Given the description of an element on the screen output the (x, y) to click on. 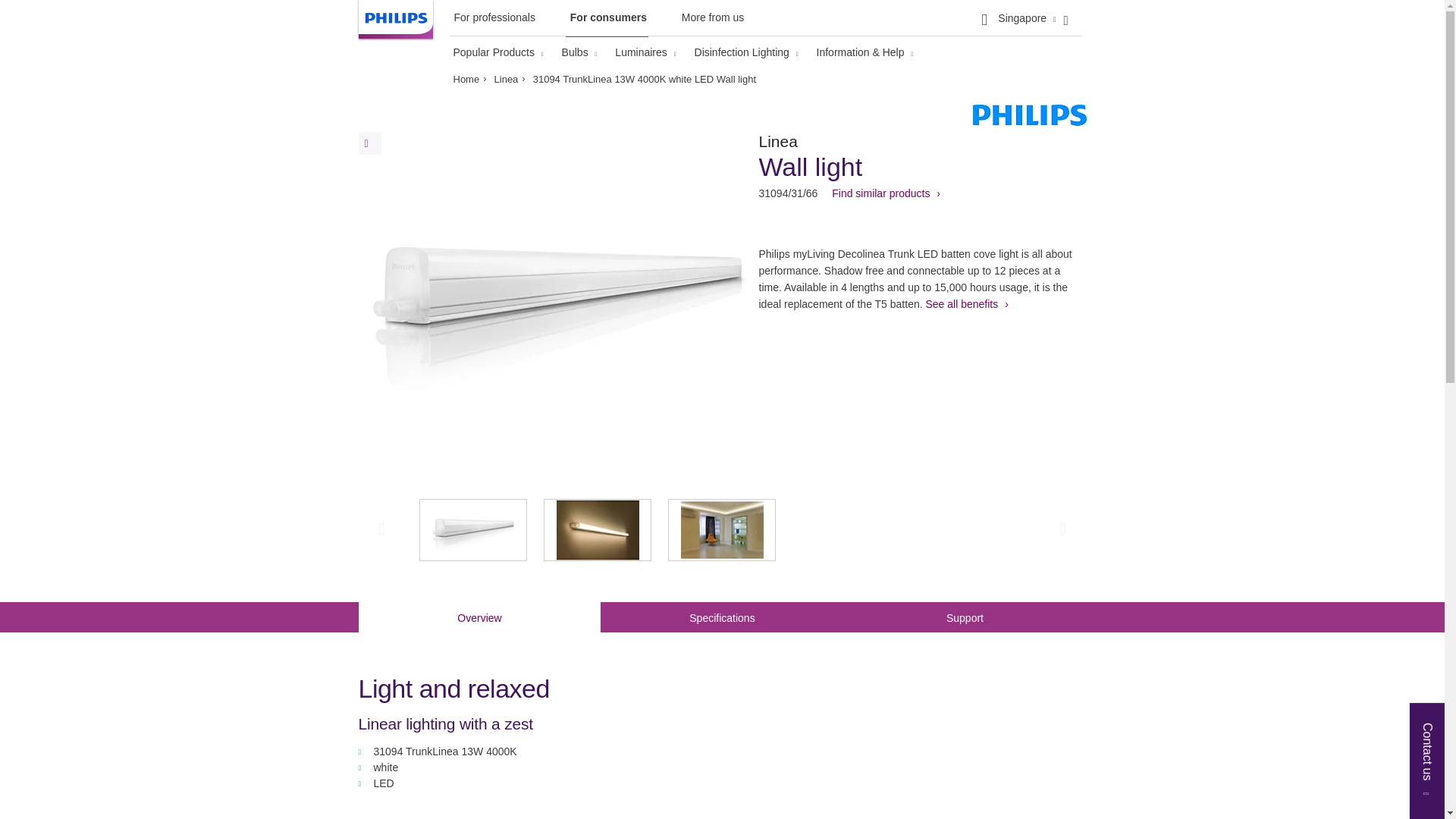
Find similar products (885, 193)
Linea (510, 78)
Home (469, 78)
See all benefits (965, 304)
For consumers (606, 20)
More from us (711, 19)
For professionals (491, 19)
31094 TrunkLinea 13W 4000K white LED Wall light (643, 78)
